Given the description of an element on the screen output the (x, y) to click on. 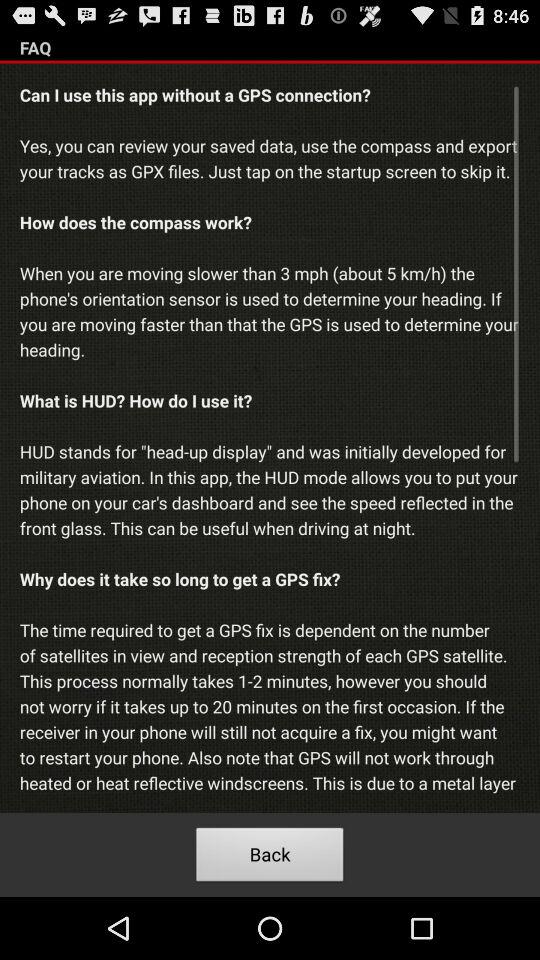
press button at the bottom (269, 857)
